Given the description of an element on the screen output the (x, y) to click on. 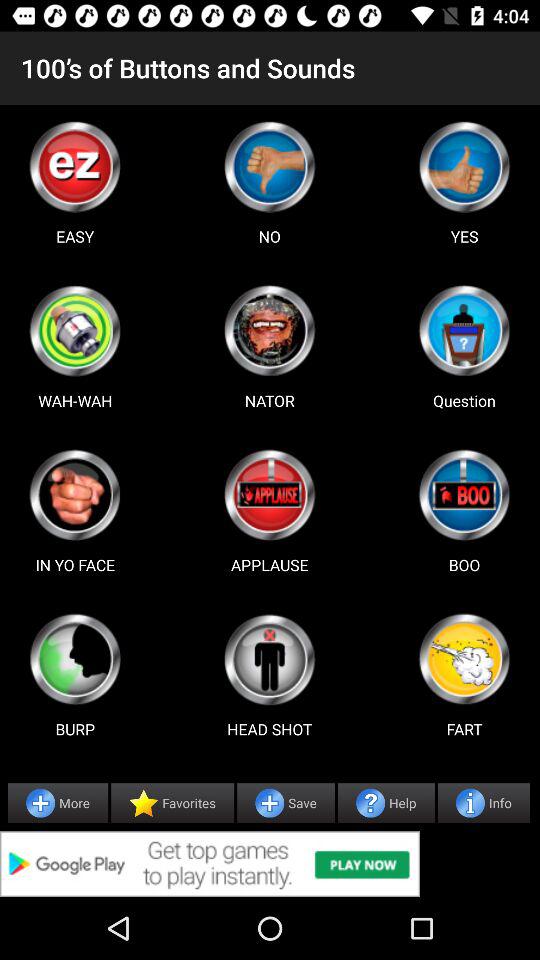
advertisement page (464, 495)
